Given the description of an element on the screen output the (x, y) to click on. 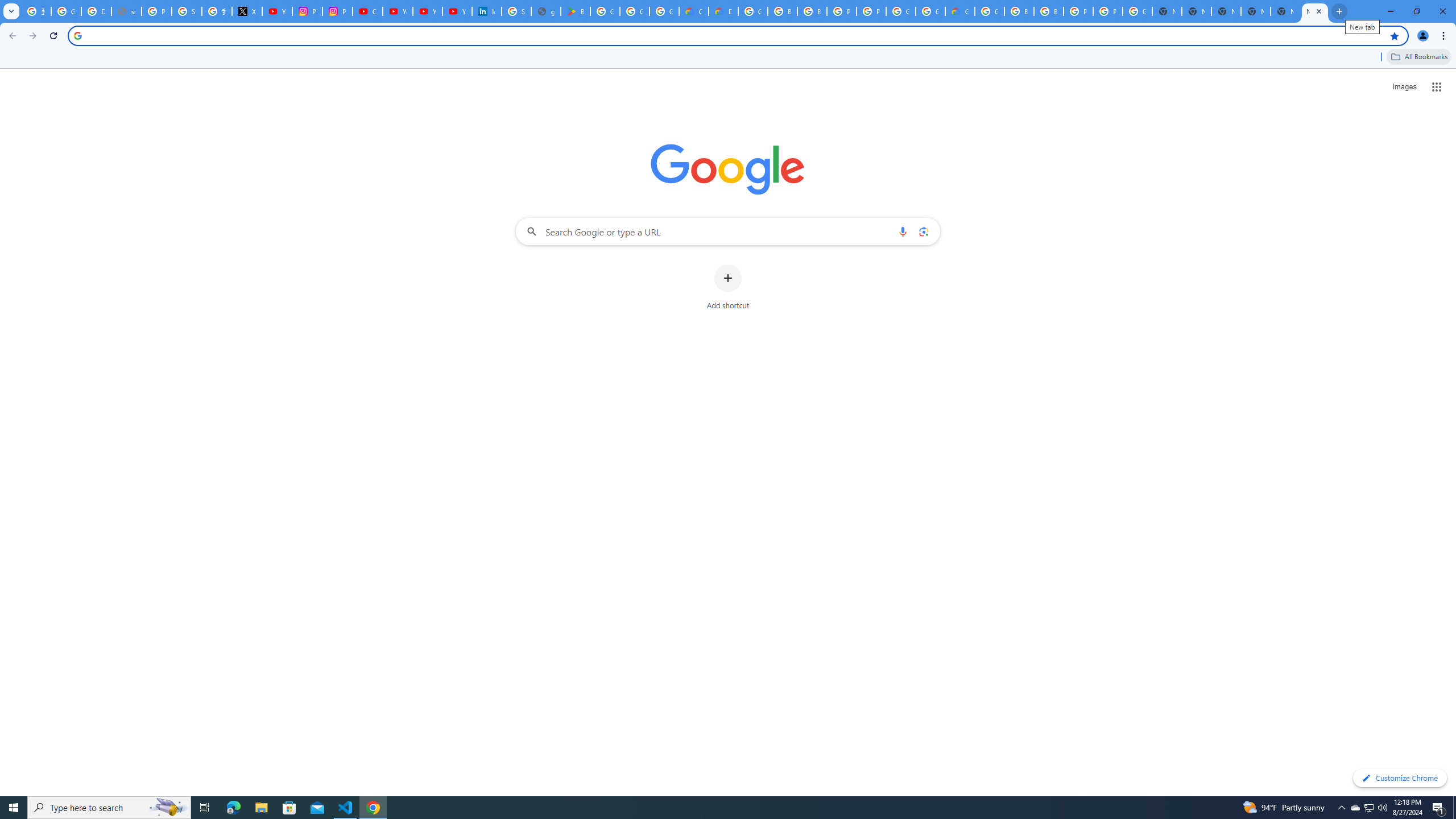
Google Cloud Platform (900, 11)
support.google.com - Network error (126, 11)
Browse Chrome as a guest - Computer - Google Chrome Help (811, 11)
All Bookmarks (1418, 56)
Customize Chrome (1399, 778)
Address and search bar (735, 35)
Bookmarks (728, 58)
Google Cloud Platform (989, 11)
